Given the description of an element on the screen output the (x, y) to click on. 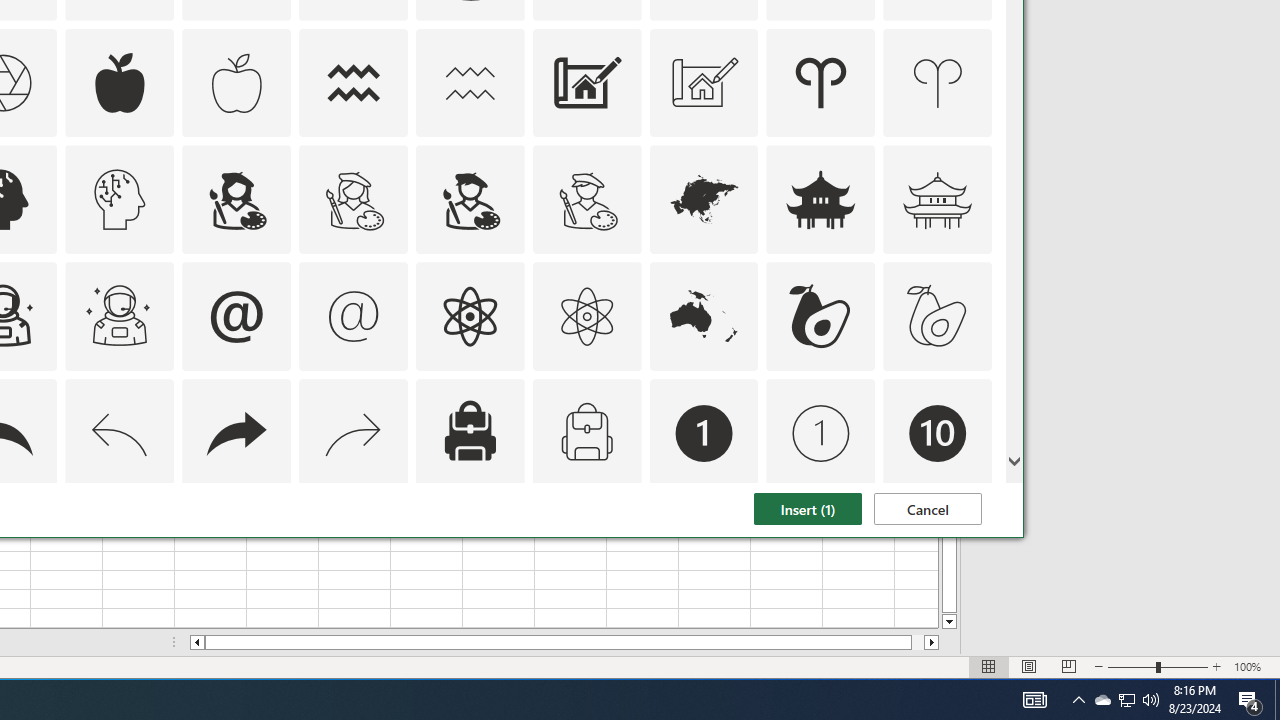
Notification Chevron (1078, 699)
AutomationID: Icons_Architecture_M (703, 82)
AutomationID: Icons_Badge7 (353, 550)
User Promoted Notification Area (1126, 699)
AutomationID: Icons_Back_RTL (236, 434)
AutomationID: Icons_Apple (120, 82)
AutomationID: Icons_Aquarius (353, 82)
AutomationID: Icons_Aries_M (938, 82)
Insert (1) (807, 508)
